Given the description of an element on the screen output the (x, y) to click on. 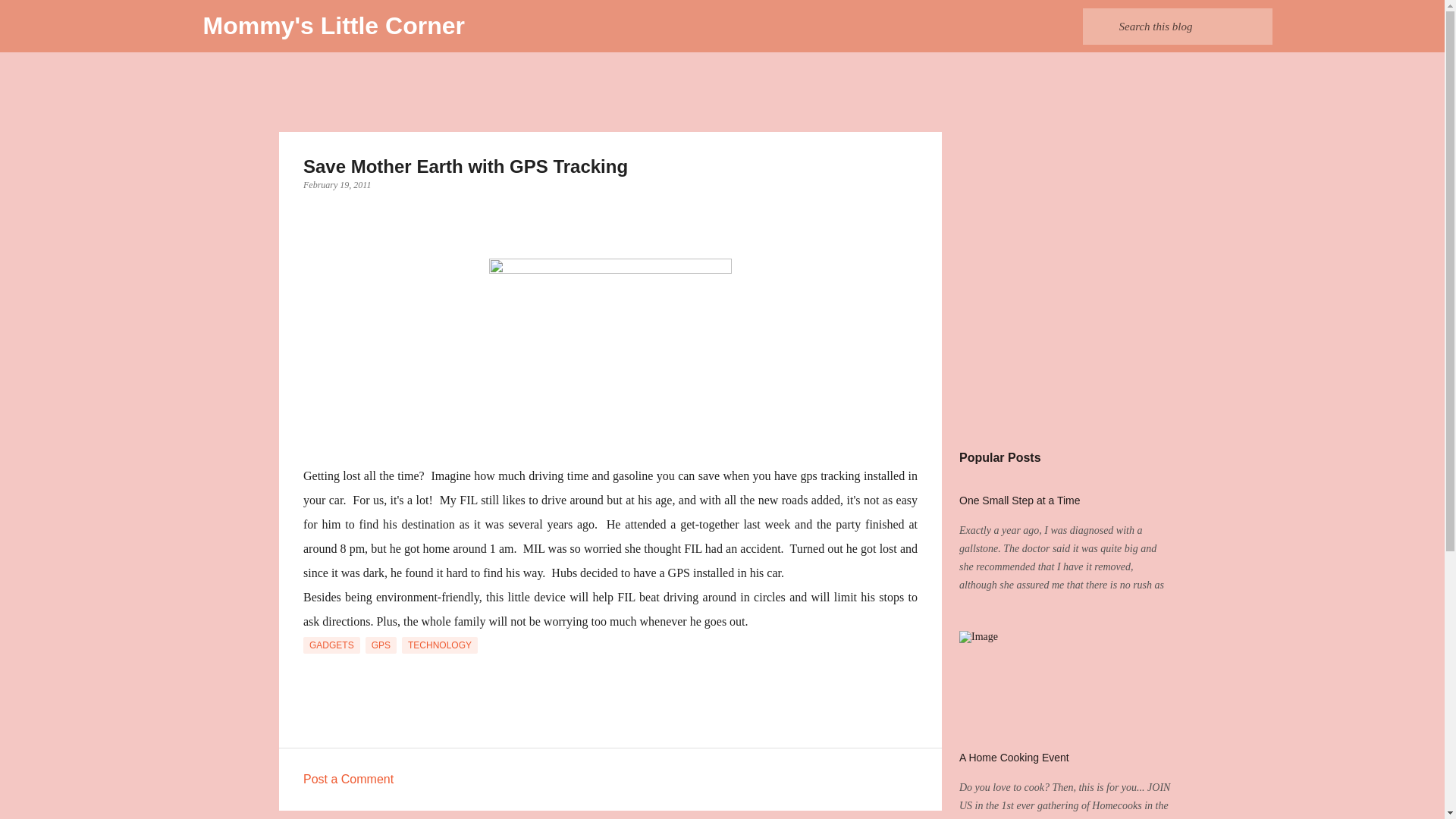
One Small Step at a Time (1019, 500)
Mommy's Little Corner (333, 25)
February 19, 2011 (336, 184)
permanent link (336, 184)
GADGETS (330, 645)
GPS (380, 645)
Post a Comment (347, 779)
TECHNOLOGY (439, 645)
A Home Cooking Event (1013, 757)
